Given the description of an element on the screen output the (x, y) to click on. 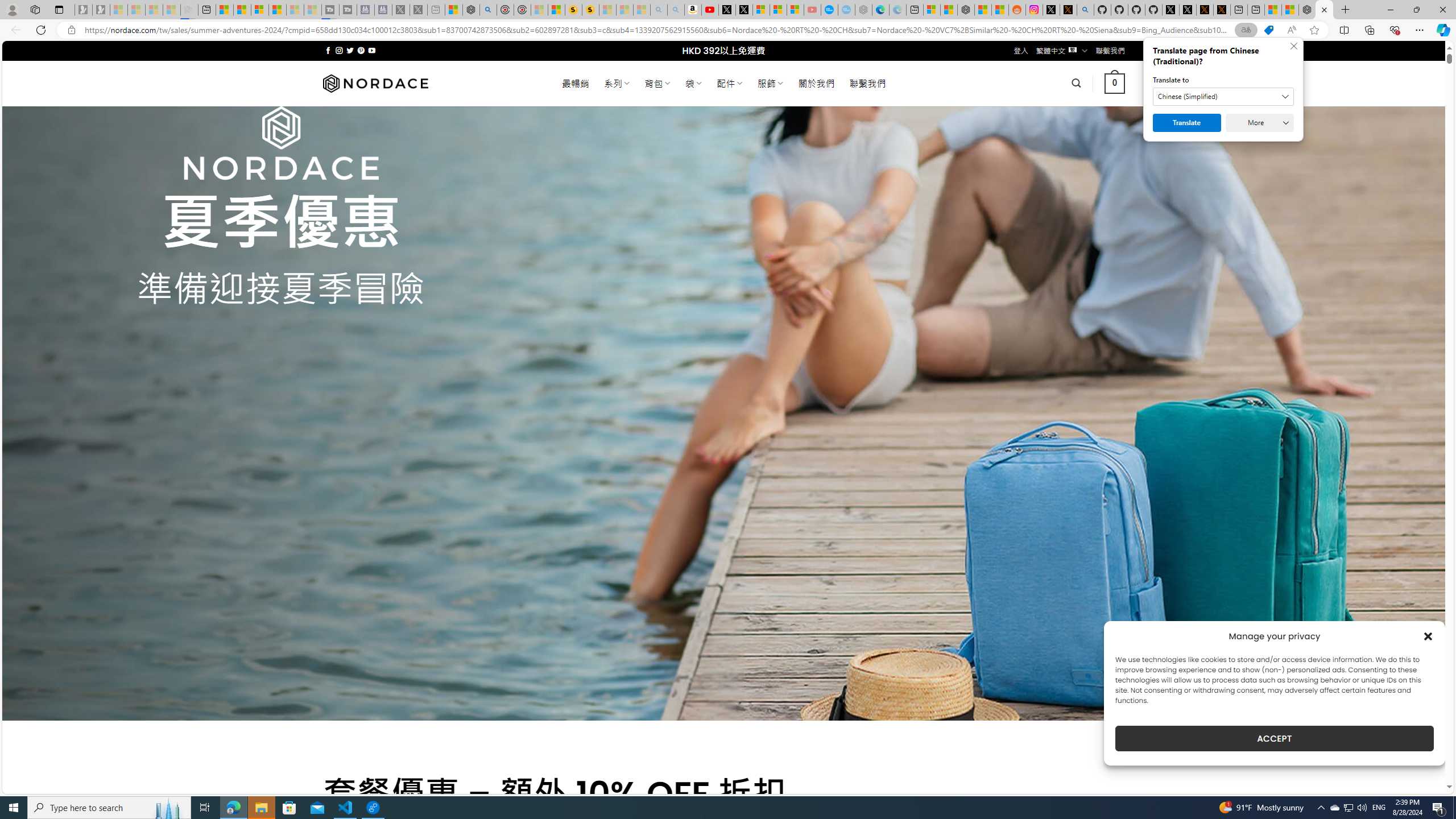
Nordace - Nordace has arrived Hong Kong - Sleeping (863, 9)
Translate (1187, 122)
Class: cmplz-close (1428, 636)
This site has coupons! Shopping in Microsoft Edge (1268, 29)
